Given the description of an element on the screen output the (x, y) to click on. 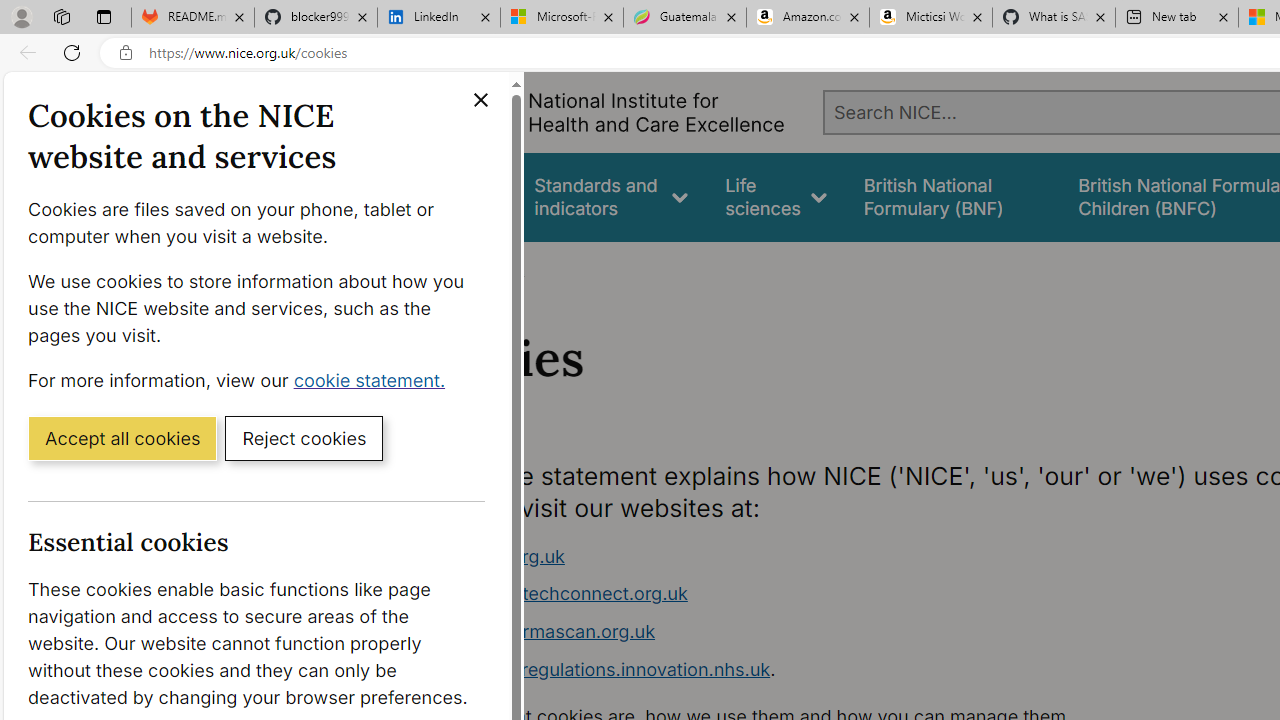
Accept all cookies (122, 437)
www.digitalregulations.innovation.nhs.uk. (796, 669)
Reject cookies (304, 437)
Home (424, 268)
Home> (433, 268)
Microsoft-Report a Concern to Bing (561, 17)
www.nice.org.uk (492, 556)
www.nice.org.uk (796, 556)
About (498, 268)
www.ukpharmascan.org.uk (796, 632)
